Given the description of an element on the screen output the (x, y) to click on. 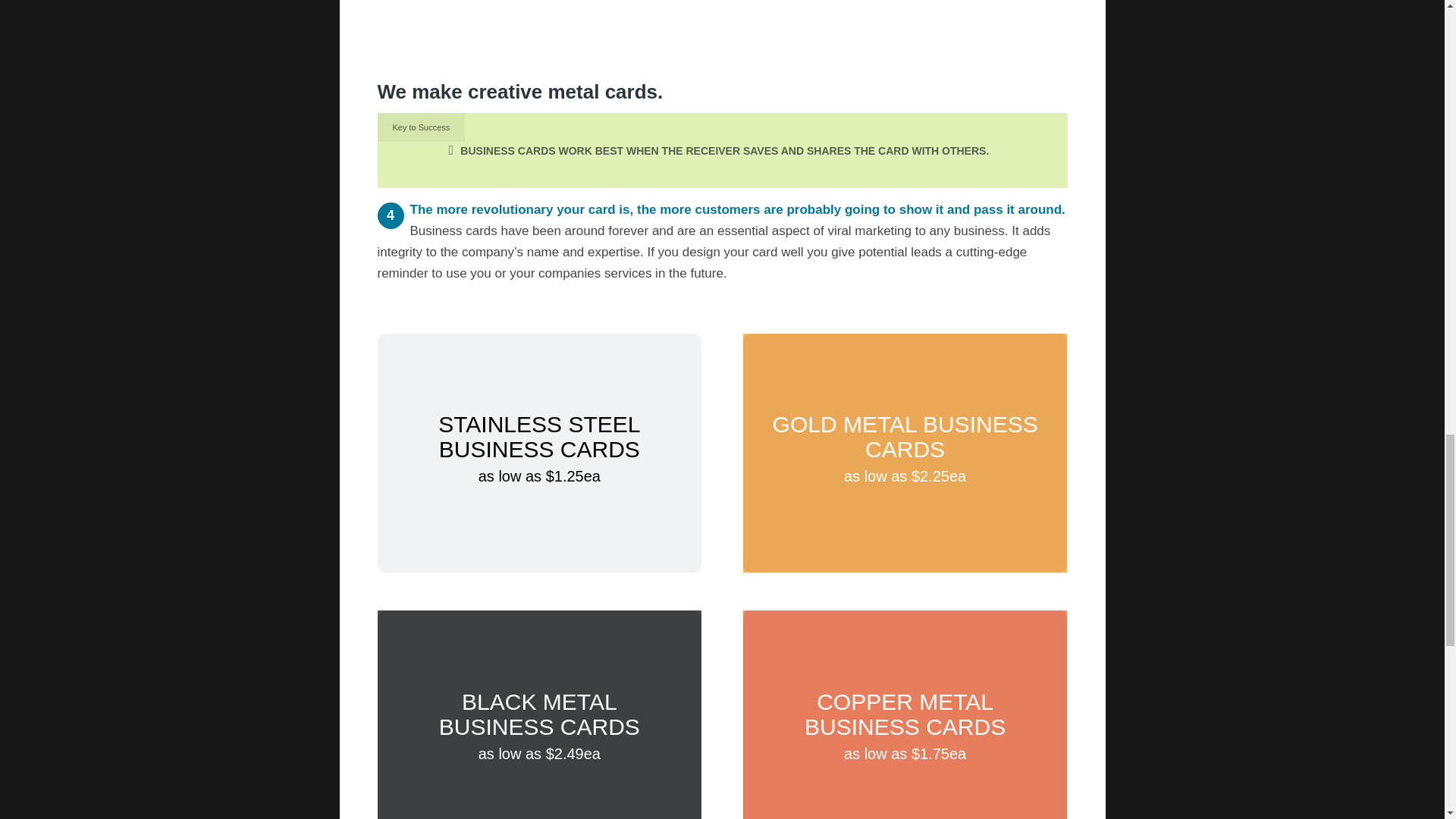
product-metal-business-cards (539, 453)
product-black-metal-business-cards (539, 714)
